Given the description of an element on the screen output the (x, y) to click on. 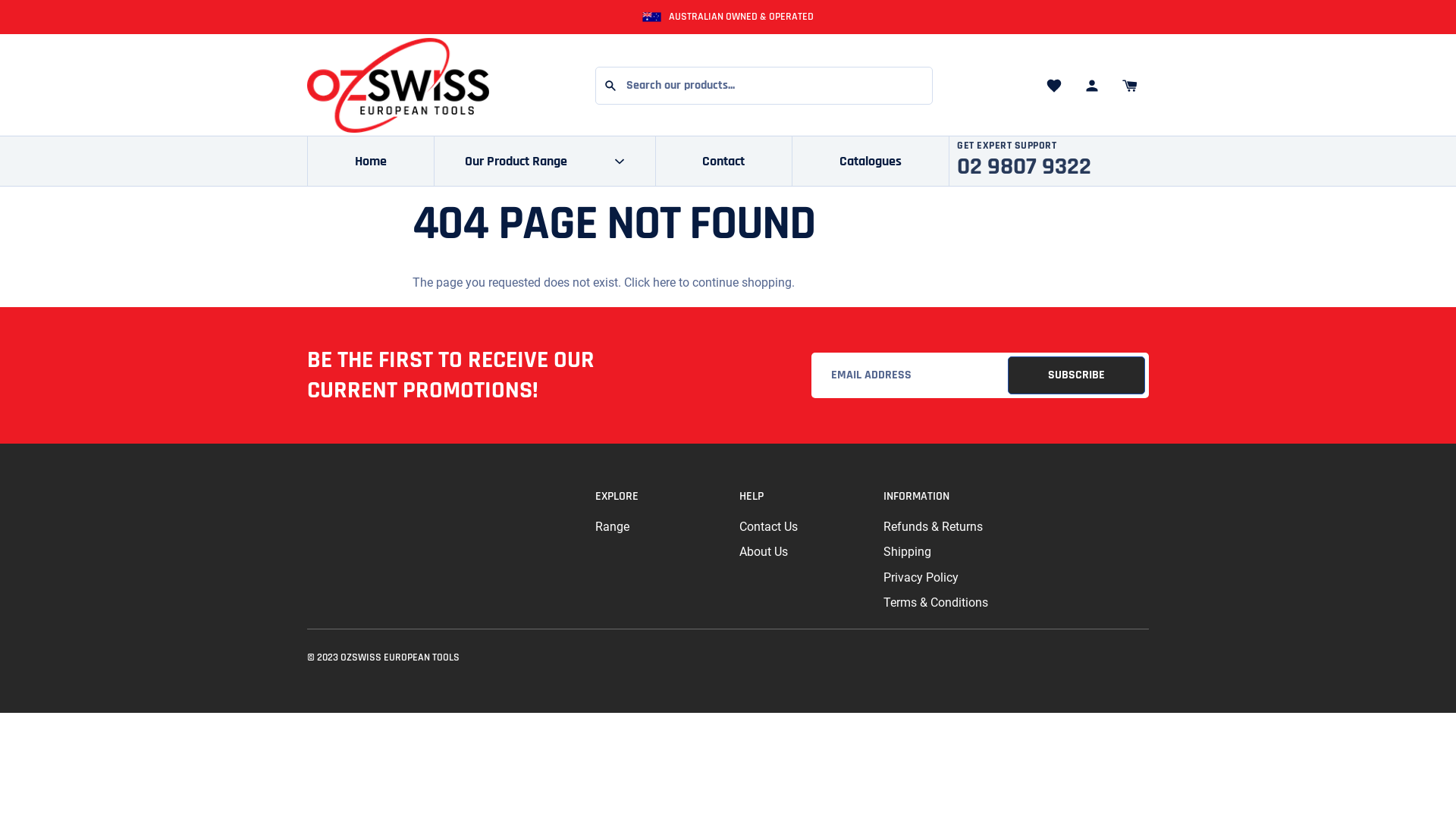
here Element type: text (663, 282)
Account Element type: hover (1091, 85)
Contact Element type: text (724, 160)
OZSWISS EUROPEAN TOOLS Element type: text (399, 657)
Shipping Element type: text (943, 551)
Contact Us Element type: text (799, 526)
Subscribe Element type: text (1076, 375)
Terms & Conditions Element type: text (943, 602)
Refunds & Returns Element type: text (943, 526)
About Us Element type: text (799, 551)
Privacy Policy Element type: text (943, 577)
INFORMATION Element type: text (943, 496)
Submit search Element type: hover (610, 85)
Catalogues Element type: text (870, 160)
Home Element type: text (370, 160)
GET EXPERT SUPPORT
02 9807 9322 Element type: text (1056, 160)
Skip to content Element type: text (0, 189)
HELP Element type: text (799, 496)
EXPLORE Element type: text (655, 496)
Our Product Range Element type: text (544, 160)
Range Element type: text (655, 526)
Wishlist Element type: hover (1054, 85)
GET EXPERT SUPPORT
02 9807 9322 Element type: text (1024, 160)
